Given the description of an element on the screen output the (x, y) to click on. 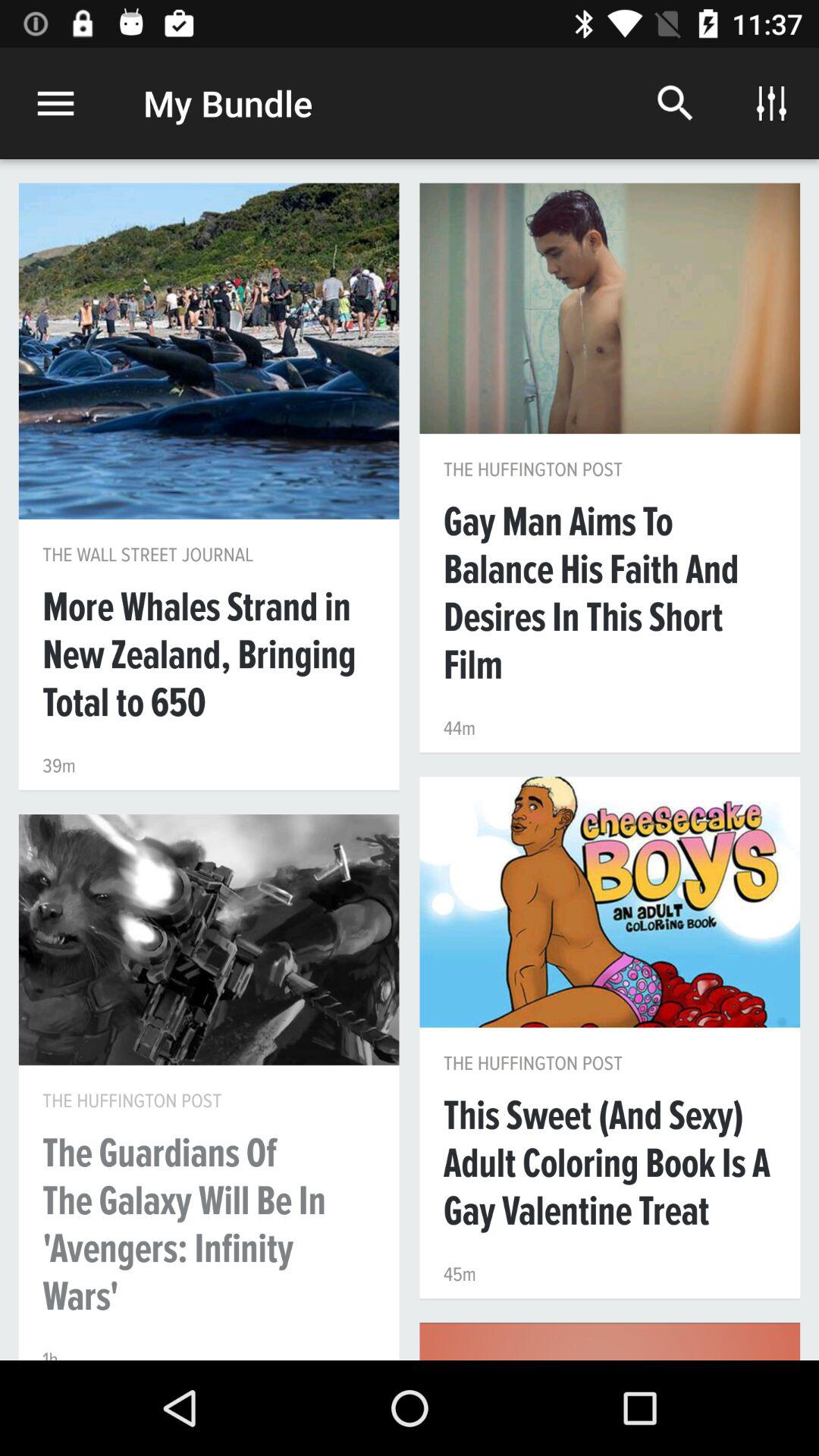
click on the image above the huffington post (610, 308)
